Given the description of an element on the screen output the (x, y) to click on. 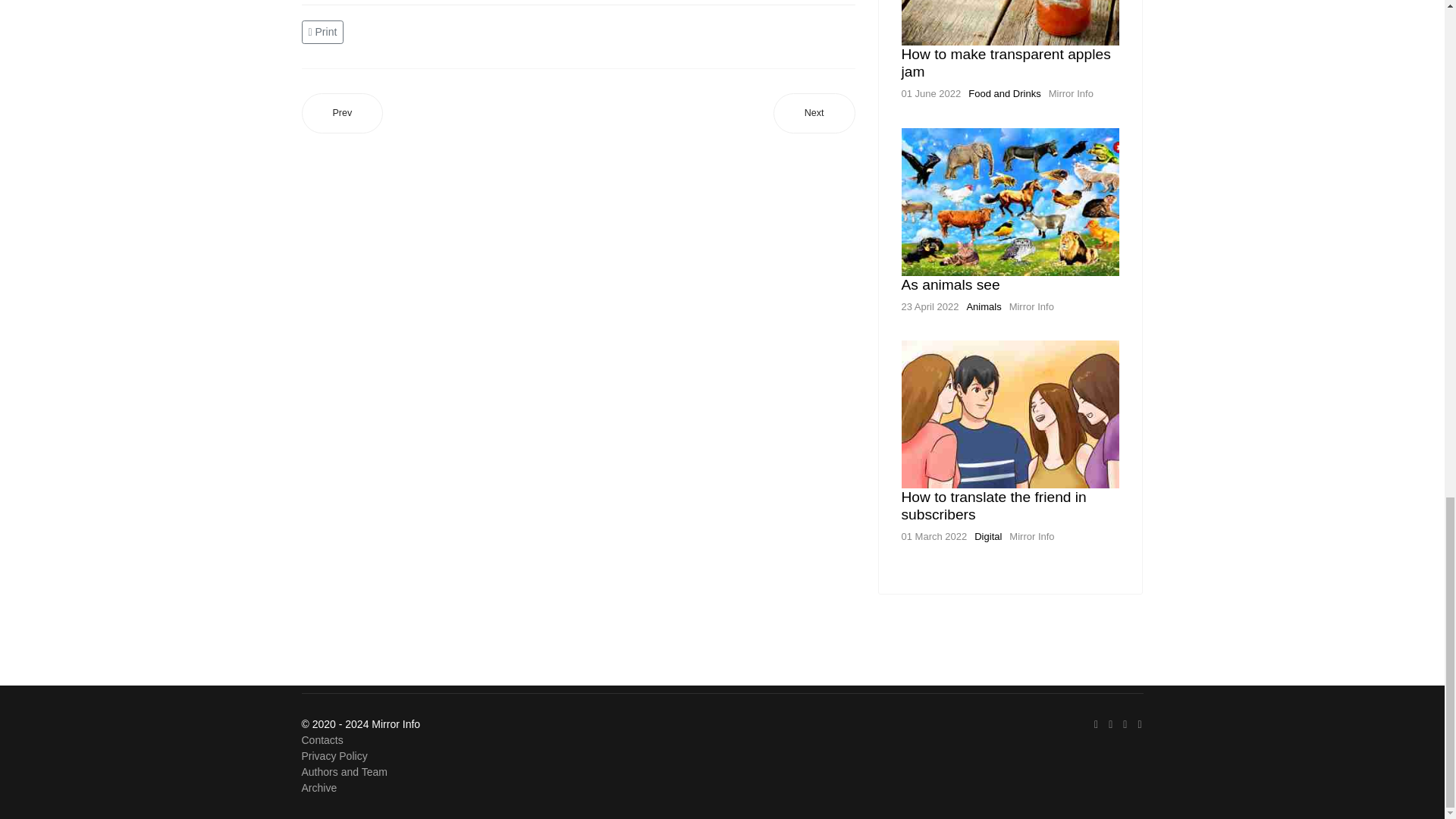
Prev (342, 113)
Next (814, 113)
Print (324, 31)
